Given the description of an element on the screen output the (x, y) to click on. 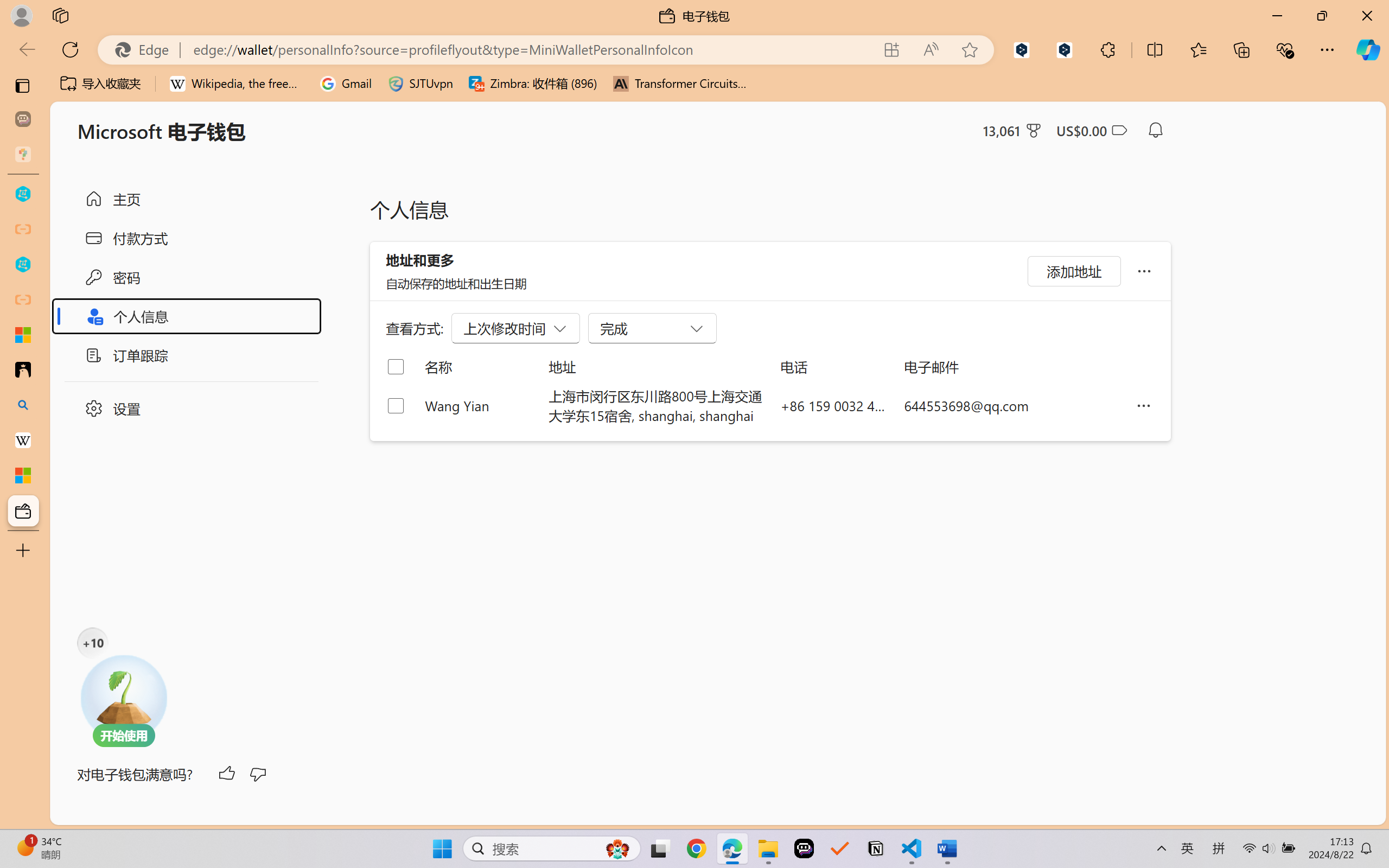
Adjust indents and spacing - Microsoft Support (22, 334)
